Given the description of an element on the screen output the (x, y) to click on. 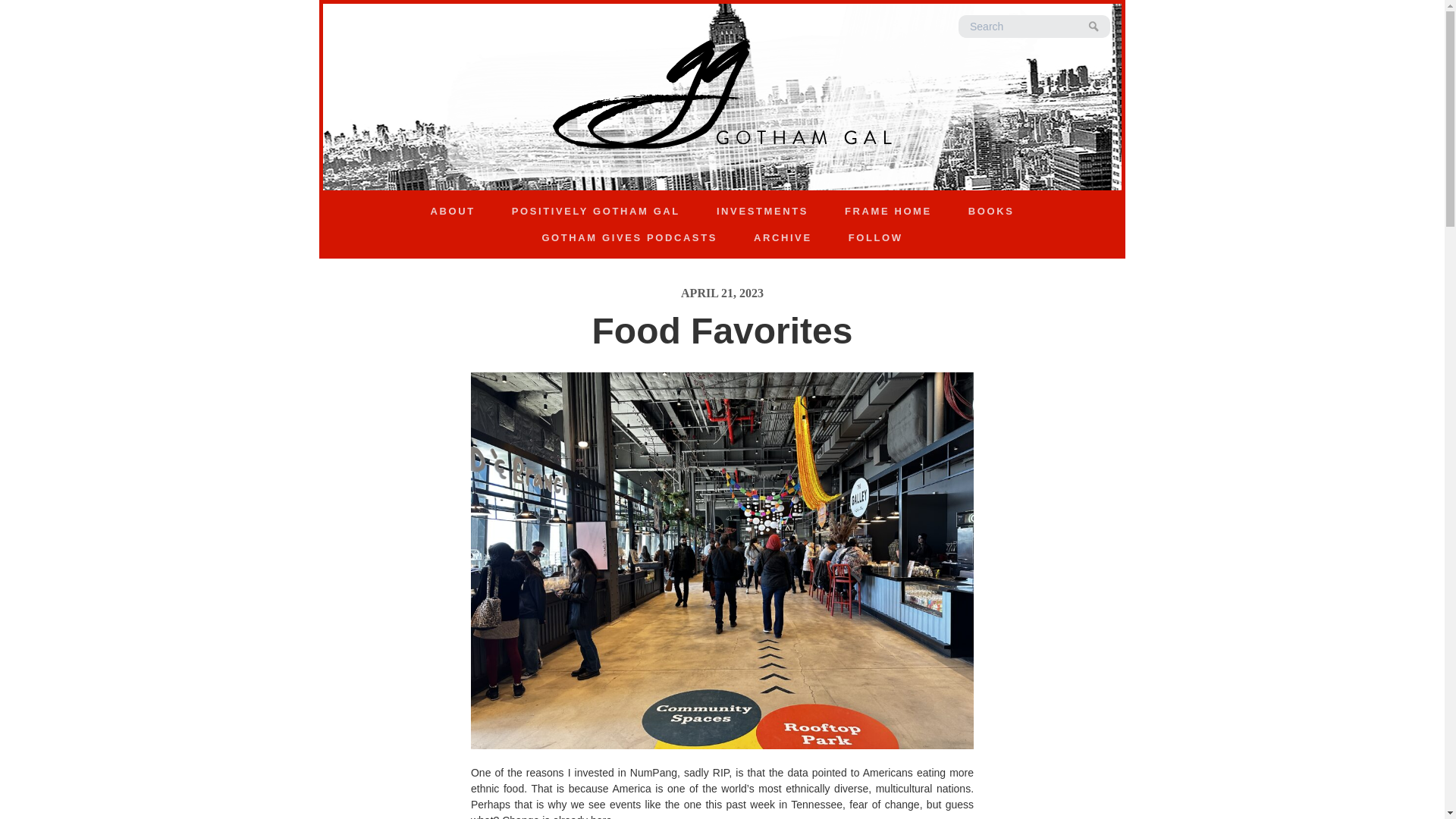
Positively Gotham Gal (596, 210)
POSITIVELY GOTHAM GAL (596, 210)
Submit (1093, 26)
FOLLOW (875, 237)
Archive (782, 237)
About (452, 210)
ARCHIVE (782, 237)
Frame Home (888, 210)
Books (990, 210)
BOOKS (990, 210)
Follow (875, 237)
FRAME HOME (888, 210)
ABOUT (452, 210)
Investments (762, 210)
Gotham Gives Podcasts (628, 237)
